Given the description of an element on the screen output the (x, y) to click on. 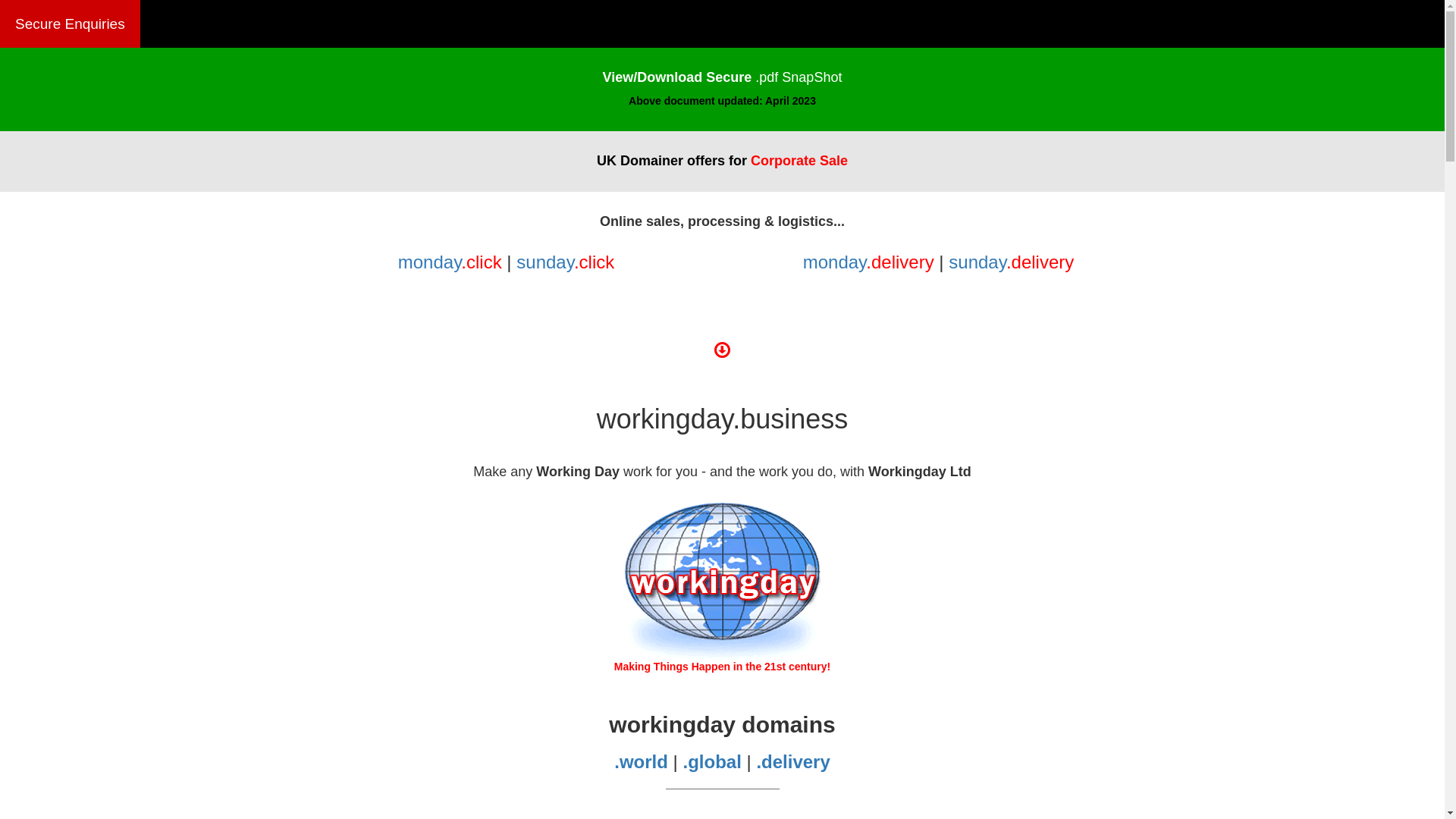
sunday.delivery Element type: text (1010, 261)
sunday.click Element type: text (565, 261)
Secure Enquiries Element type: text (70, 23)
.delivery Element type: text (792, 761)
monday.delivery Element type: text (868, 261)
View/Download Secure .pdf SnapShot Element type: text (722, 76)
.global Element type: text (714, 761)
.world Element type: text (643, 761)
monday.click Element type: text (450, 261)
